Given the description of an element on the screen output the (x, y) to click on. 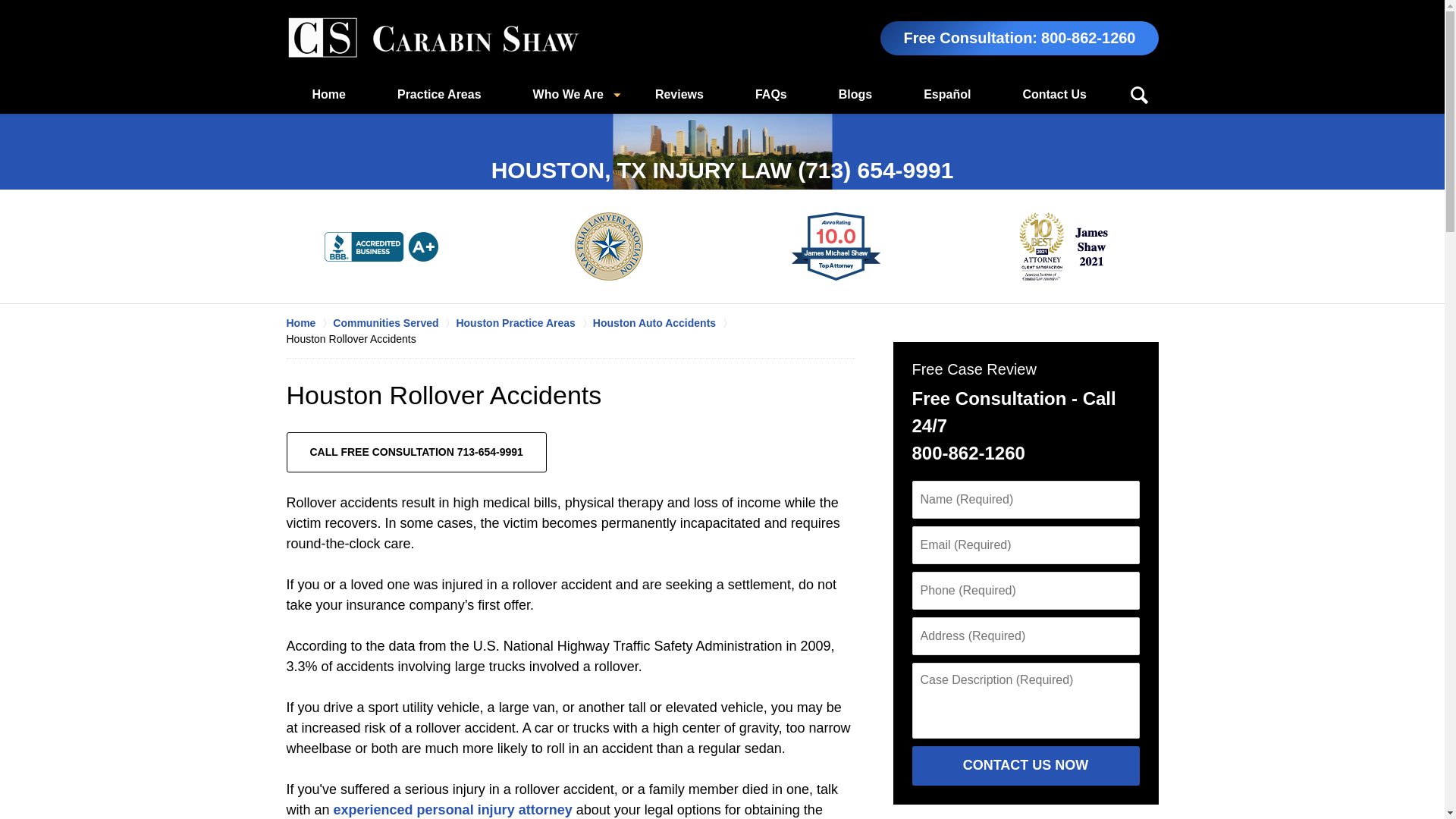
Houston Practice Areas (523, 323)
Houston Auto Accidents (662, 323)
Contact Us (1053, 94)
Harris County Car Injury Lawyers Carabin Shaw Home (432, 37)
Blogs (855, 94)
Home (309, 323)
FAQs (770, 94)
Free Case Review (973, 369)
Home (328, 94)
Who We Are (567, 94)
Practice Areas (438, 94)
CALL FREE CONSULTATION 713-654-9991 (416, 452)
CONTACT US NOW (1024, 765)
Back to Home (432, 37)
Free Consultation: 800-862-1260 (1018, 38)
